Given the description of an element on the screen output the (x, y) to click on. 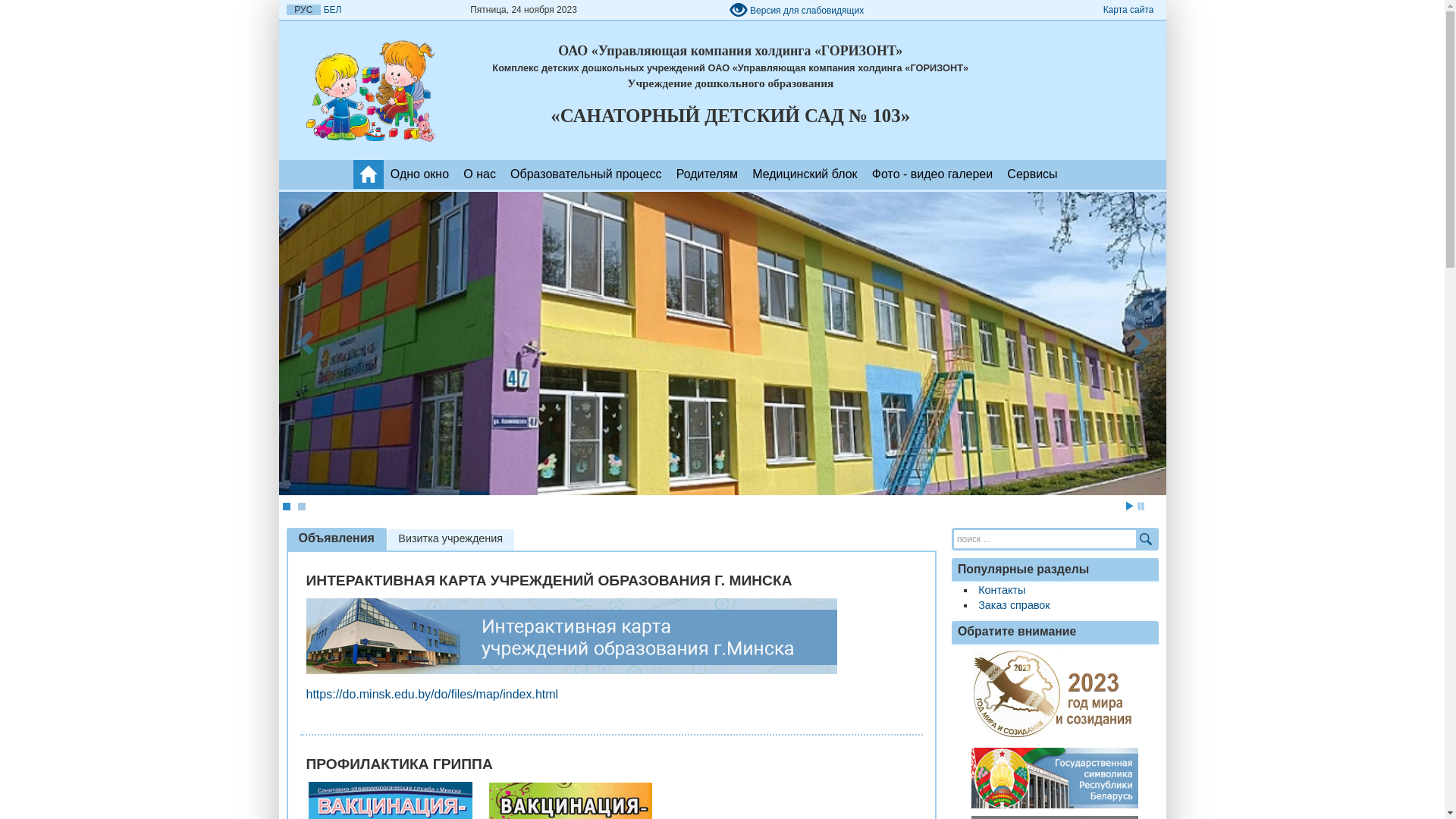
2 Element type: text (300, 506)
https://do.minsk.edu.by/do/files/map/index.html Element type: text (432, 693)
1 Element type: text (285, 506)
